Given the description of an element on the screen output the (x, y) to click on. 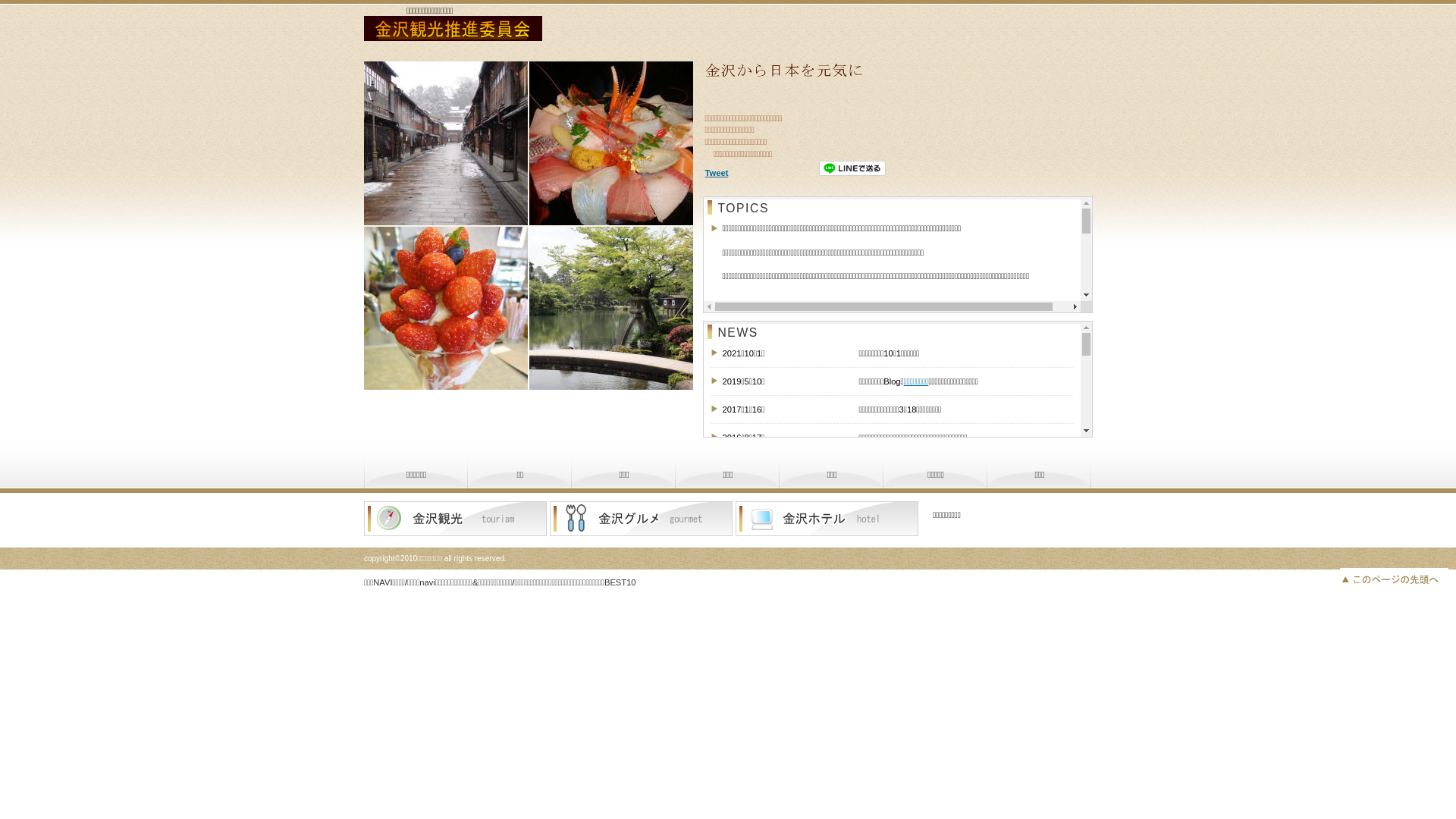
Tweet Element type: text (716, 172)
